Given the description of an element on the screen output the (x, y) to click on. 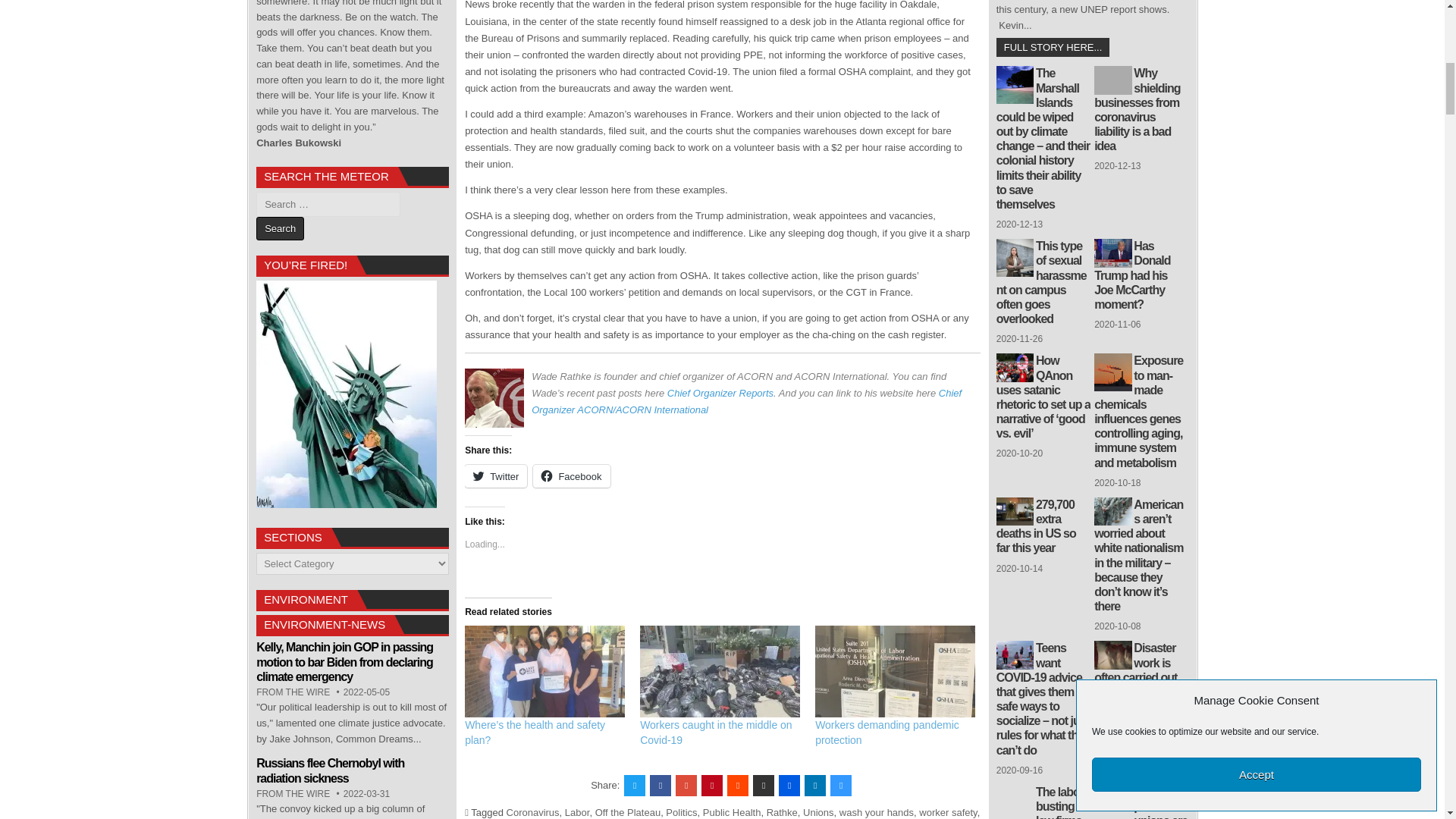
Click to share on Facebook (571, 476)
Workers demanding pandemic protection (895, 671)
Search (280, 228)
Search (280, 228)
Workers caught in the middle on Covid-19 (716, 732)
Workers caught in the middle on Covid-19 (719, 671)
Share this on VK (763, 785)
Chief Organizer Reports (719, 392)
Share this on Reddit (737, 785)
Share this on Pinterest (711, 785)
Click to share on Twitter (495, 476)
Share this on Facebook (660, 785)
Workers demanding pandemic protection (887, 732)
Tweet This! (634, 785)
